Given the description of an element on the screen output the (x, y) to click on. 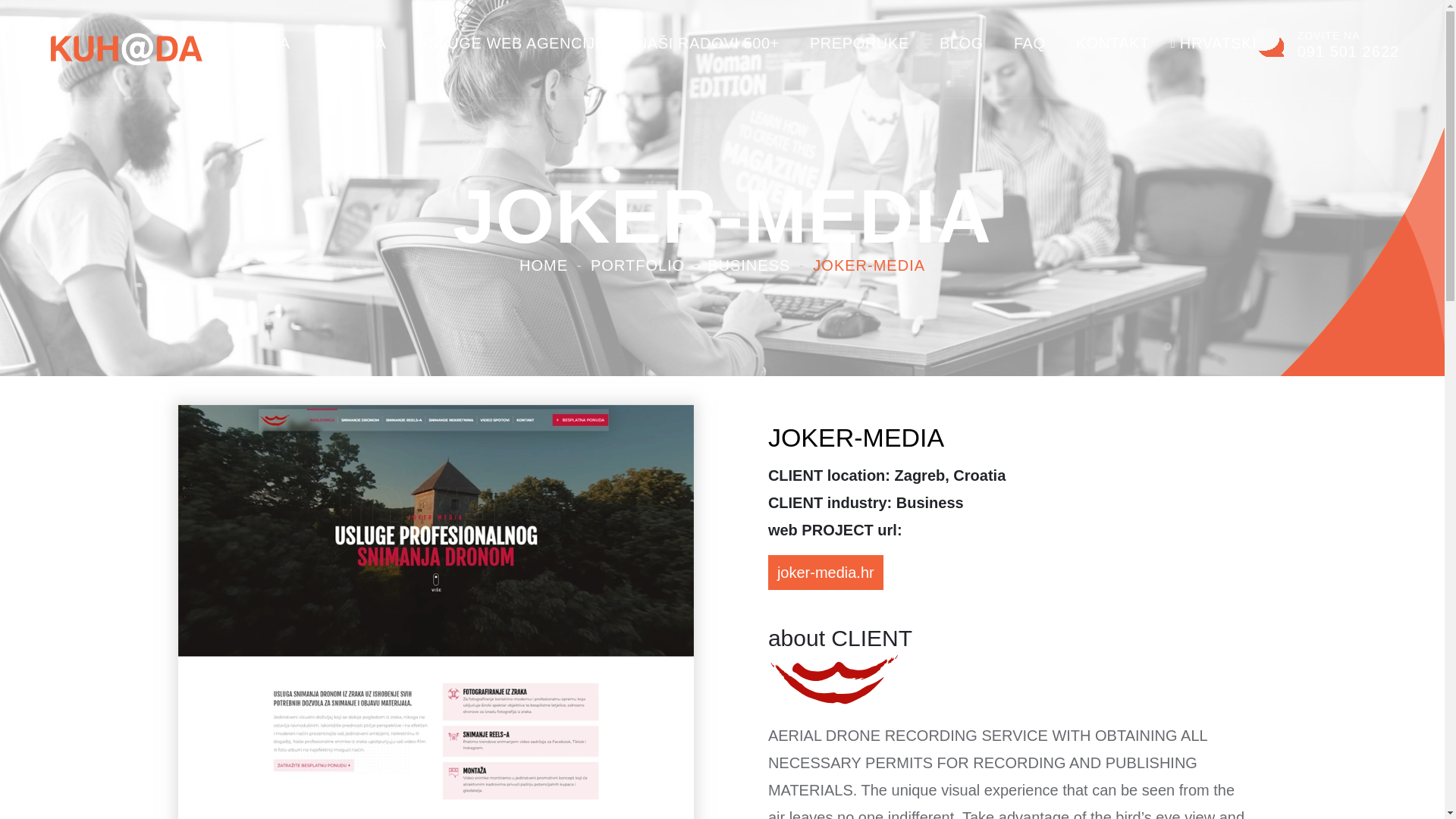
KONTAKT (1112, 42)
NASLOVNICA (238, 42)
HRVATSKI (1218, 42)
BLOG (961, 42)
USLUGE WEB AGENCIJE (510, 42)
KUHADA (353, 42)
joker2 (835, 678)
PREPORUKE (1325, 42)
